Given the description of an element on the screen output the (x, y) to click on. 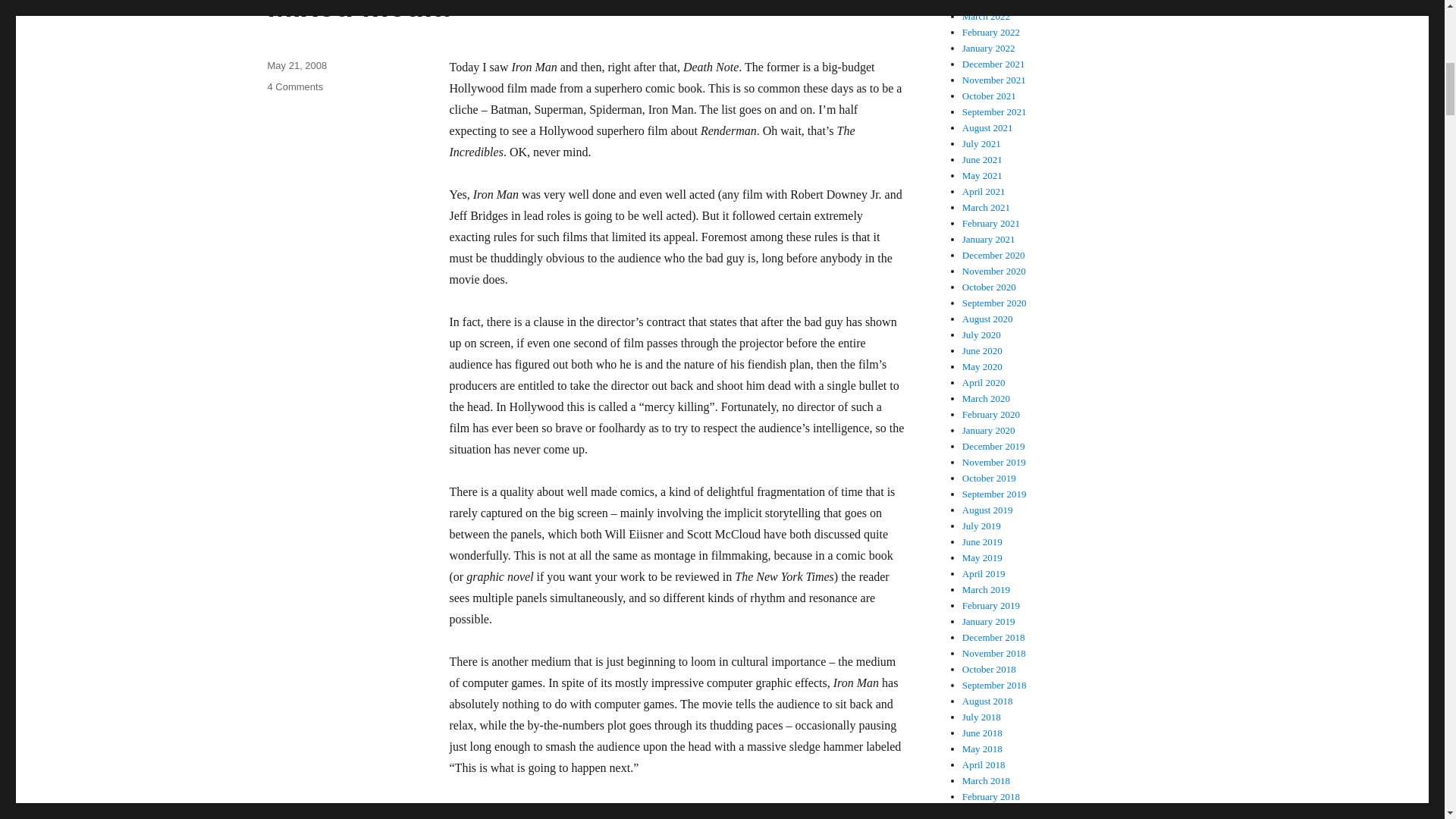
May 21, 2008 (294, 86)
Mixed media (296, 65)
